Given the description of an element on the screen output the (x, y) to click on. 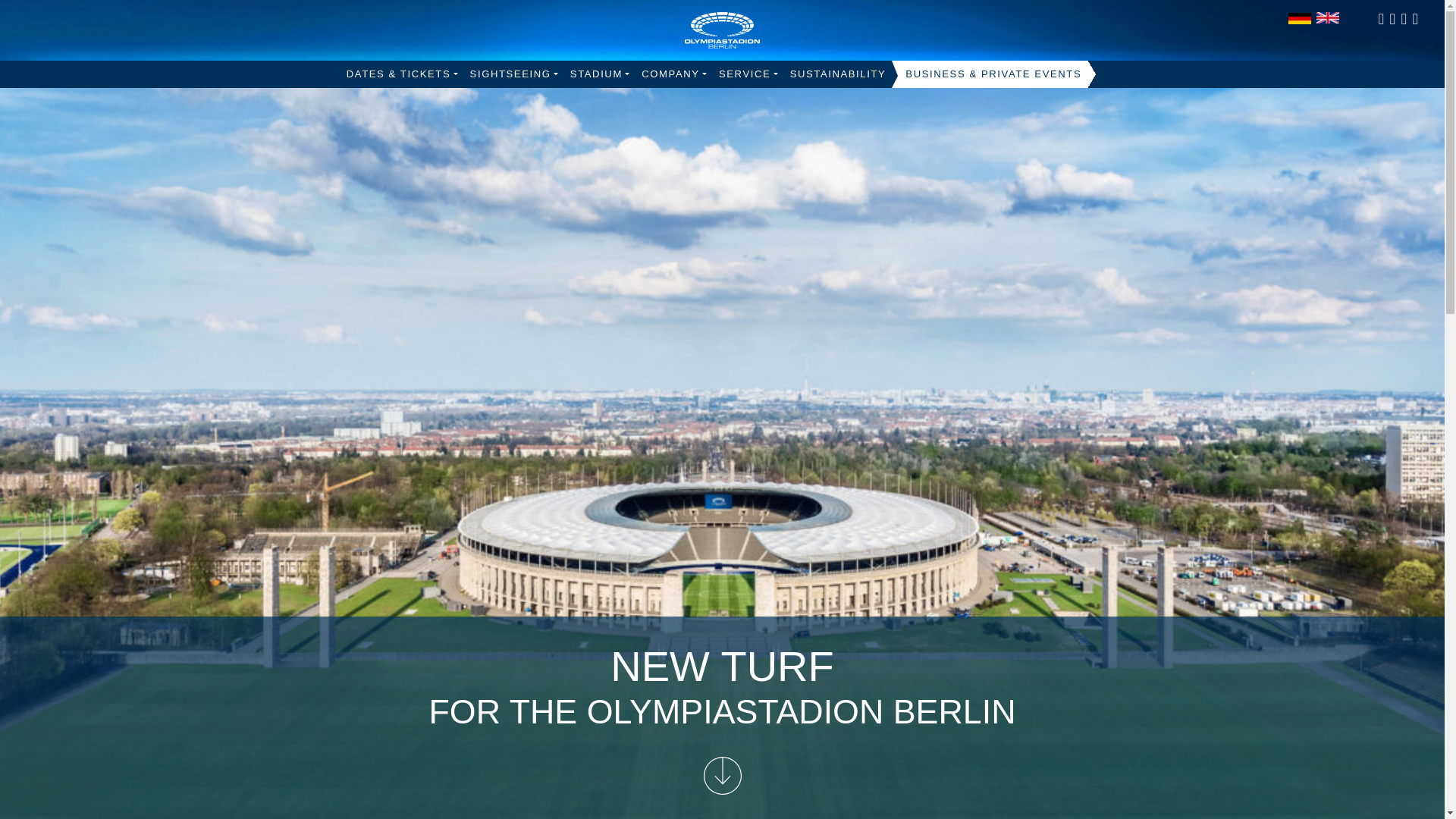
STADIUM (599, 73)
SIGHTSEEING (514, 73)
COMPANY (673, 73)
Business Area (993, 73)
SERVICE (748, 73)
SUSTAINABILITY (838, 73)
